Given the description of an element on the screen output the (x, y) to click on. 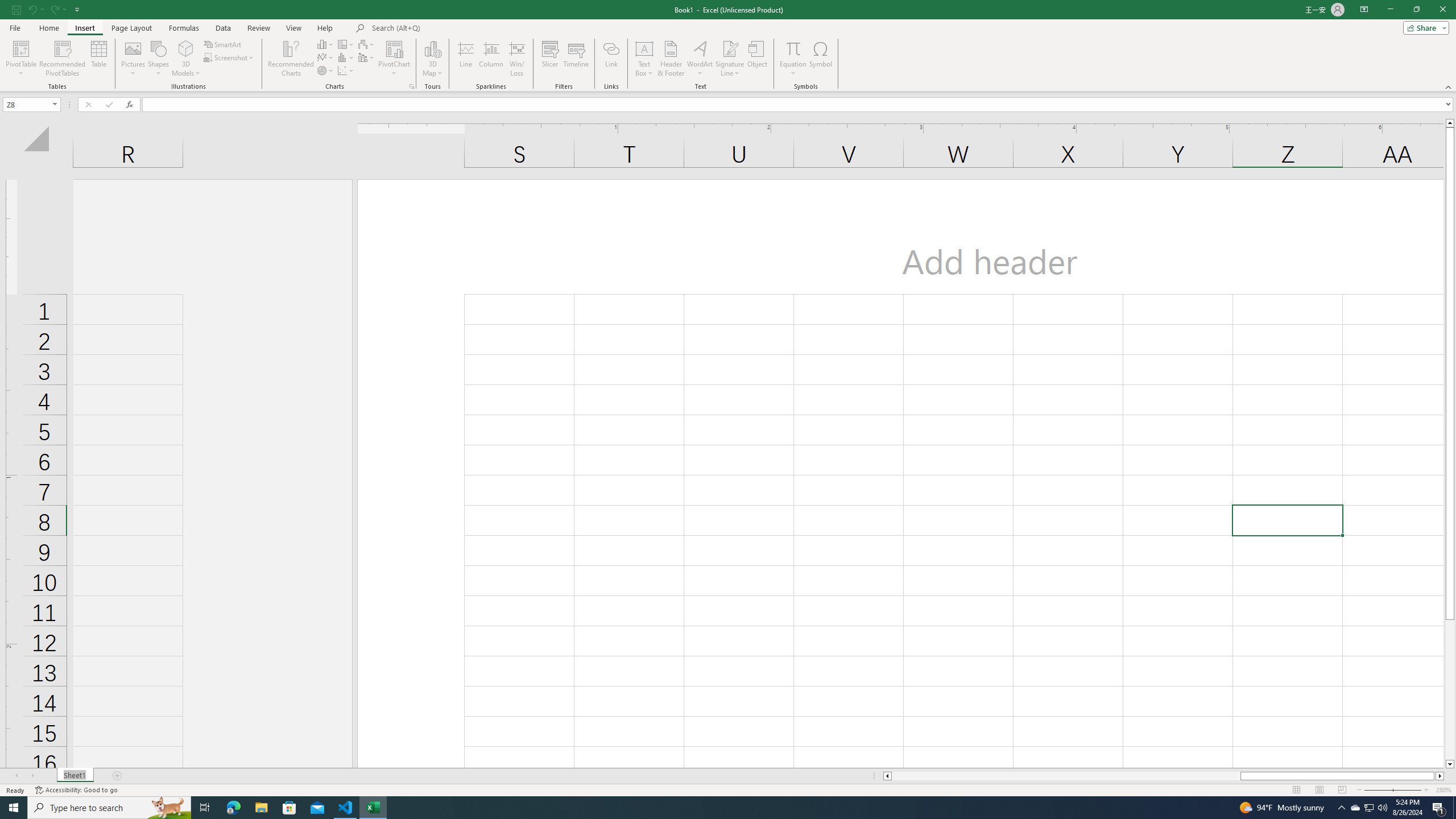
Insert Line or Area Chart (325, 56)
Insert Combo Chart (366, 56)
Recommended Charts (411, 85)
3D Models (186, 48)
Header & Footer... (670, 58)
